Given the description of an element on the screen output the (x, y) to click on. 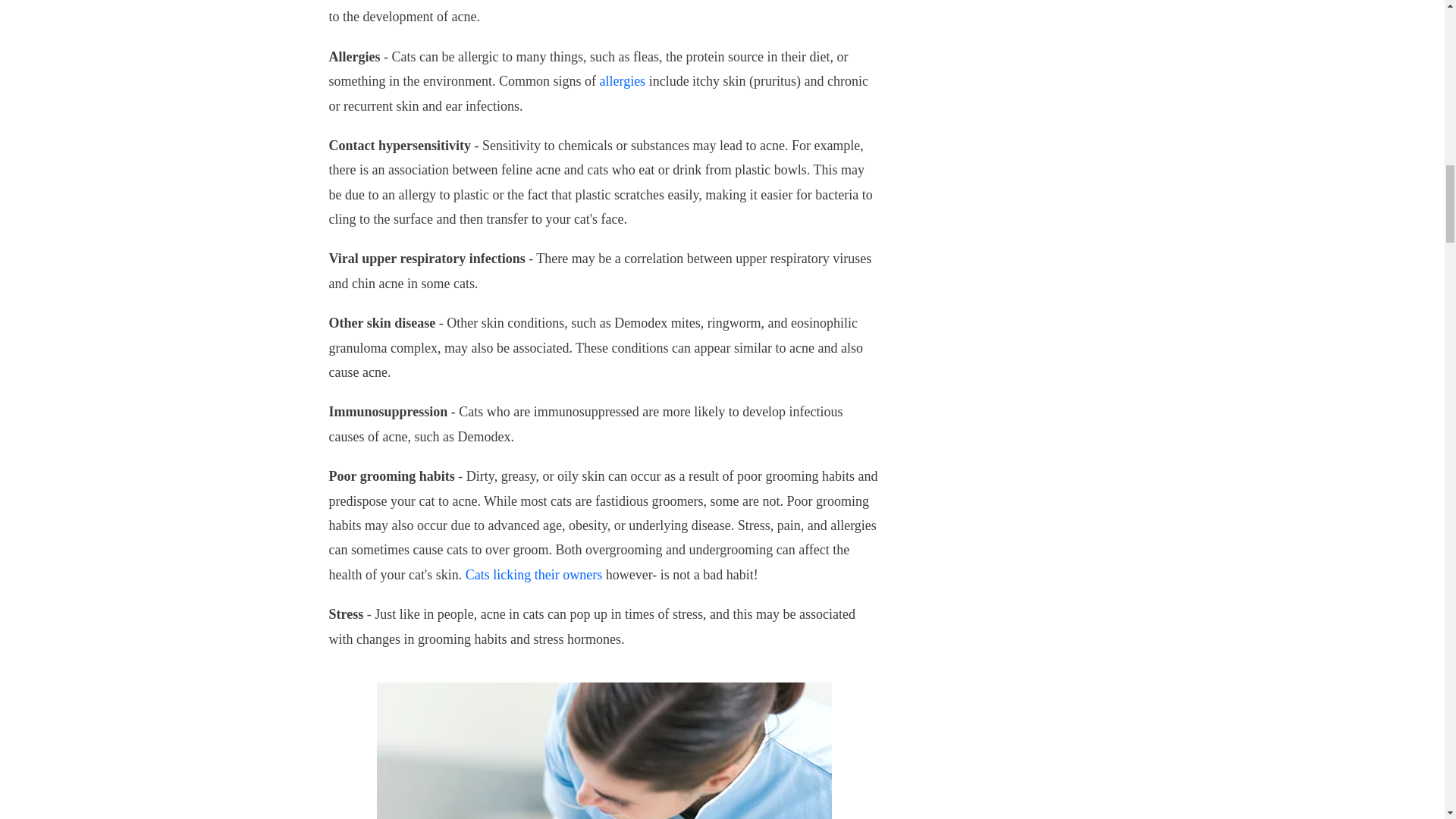
Veterinarian checking cat's face (604, 750)
